Given the description of an element on the screen output the (x, y) to click on. 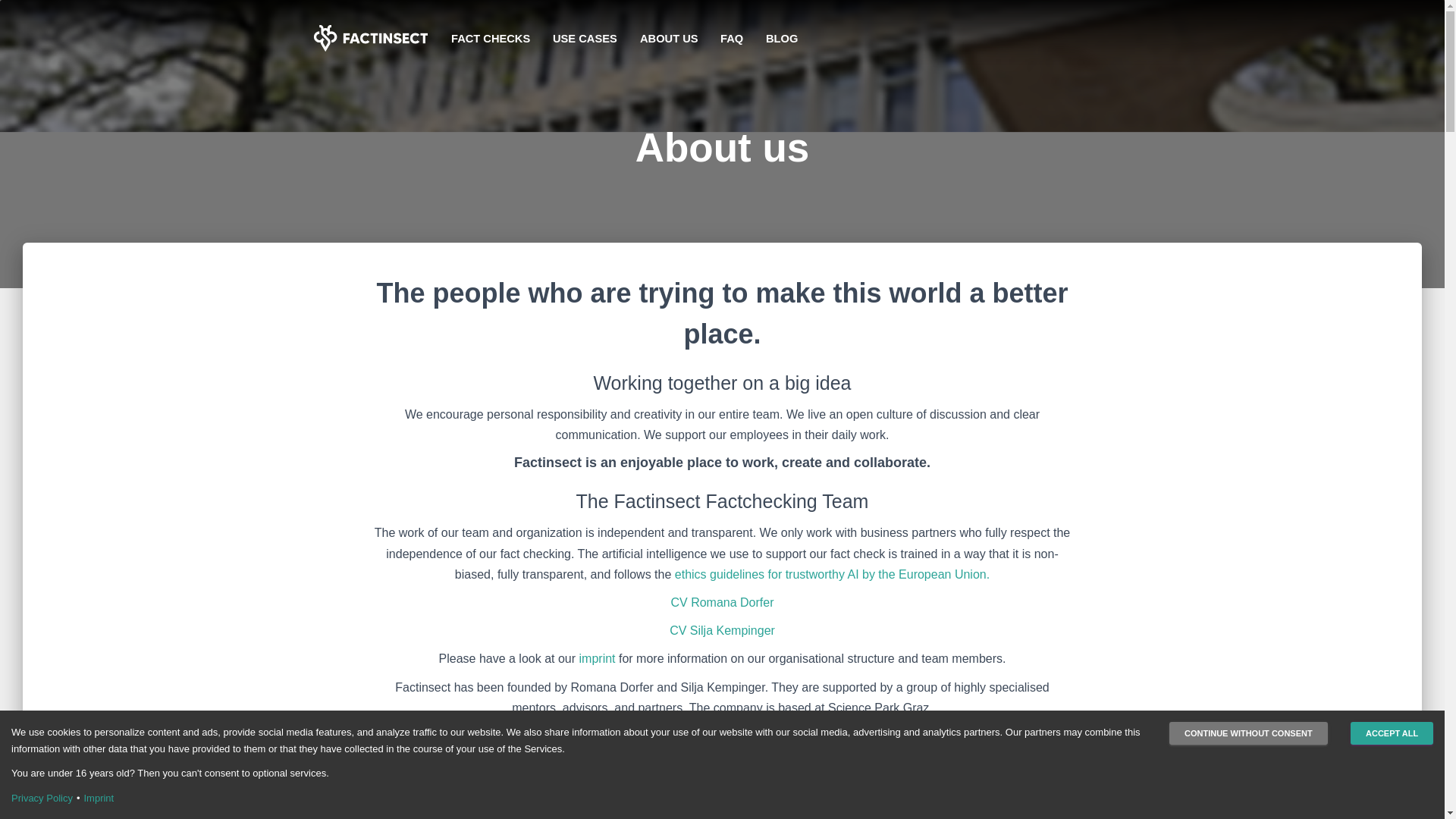
FAQ (731, 37)
USE CASES (584, 38)
CV Romana Dorfer (721, 602)
BLOG (781, 38)
FAQ (731, 38)
ABOUT US (669, 37)
CV Silja Kempinger (721, 630)
ethics guidelines for trustworthy AI by the European Union. (832, 574)
BLOG (781, 37)
ABOUT US (669, 38)
USE CASES (584, 37)
FACT CHECKS (490, 37)
FACT CHECKS (490, 38)
imprint (598, 658)
